Given the description of an element on the screen output the (x, y) to click on. 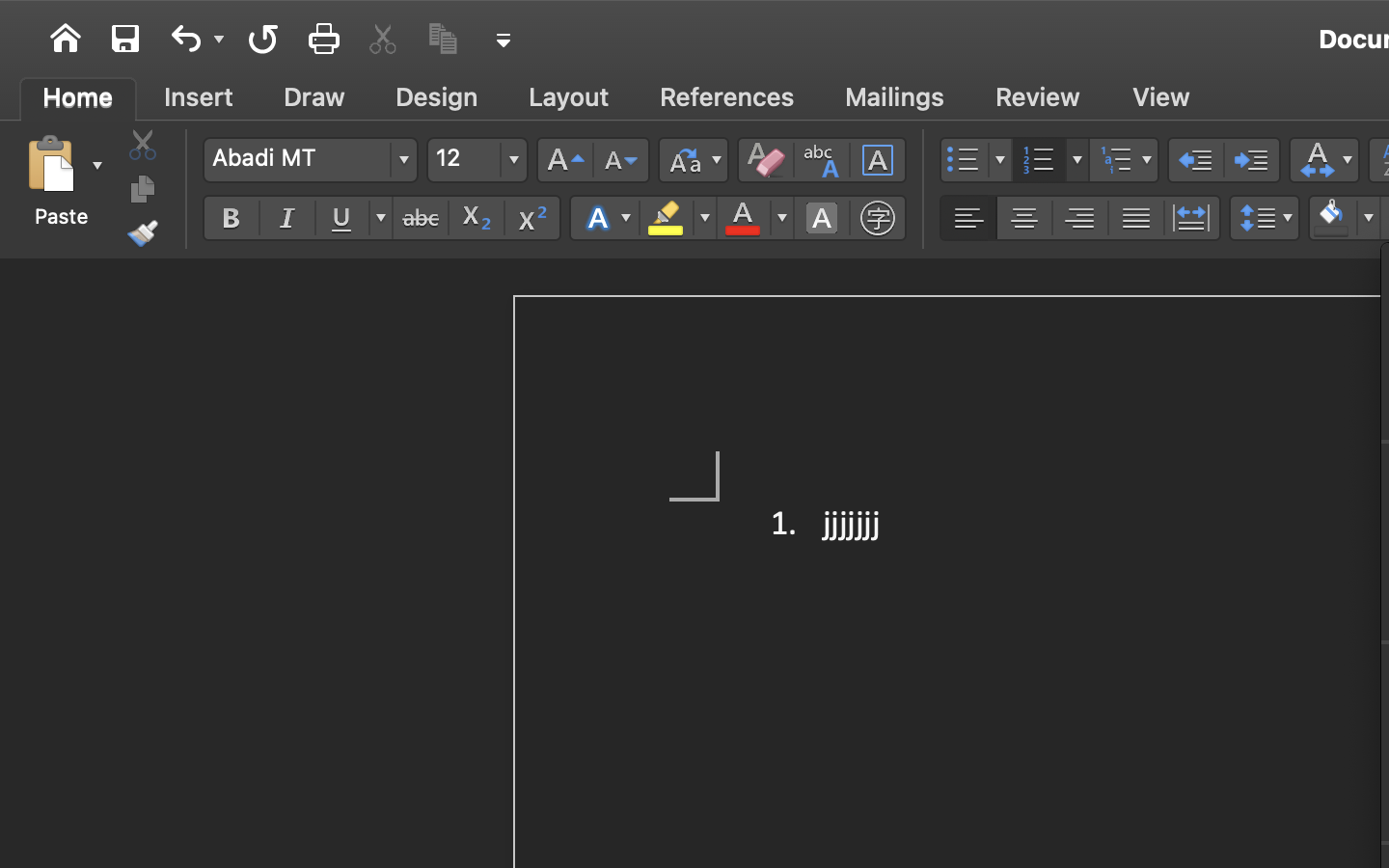
Abadi MT Element type: AXComboBox (310, 160)
12 Element type: AXComboBox (477, 160)
1 Element type: AXRadioButton (77, 97)
0 Element type: AXRadioButton (726, 97)
